Given the description of an element on the screen output the (x, y) to click on. 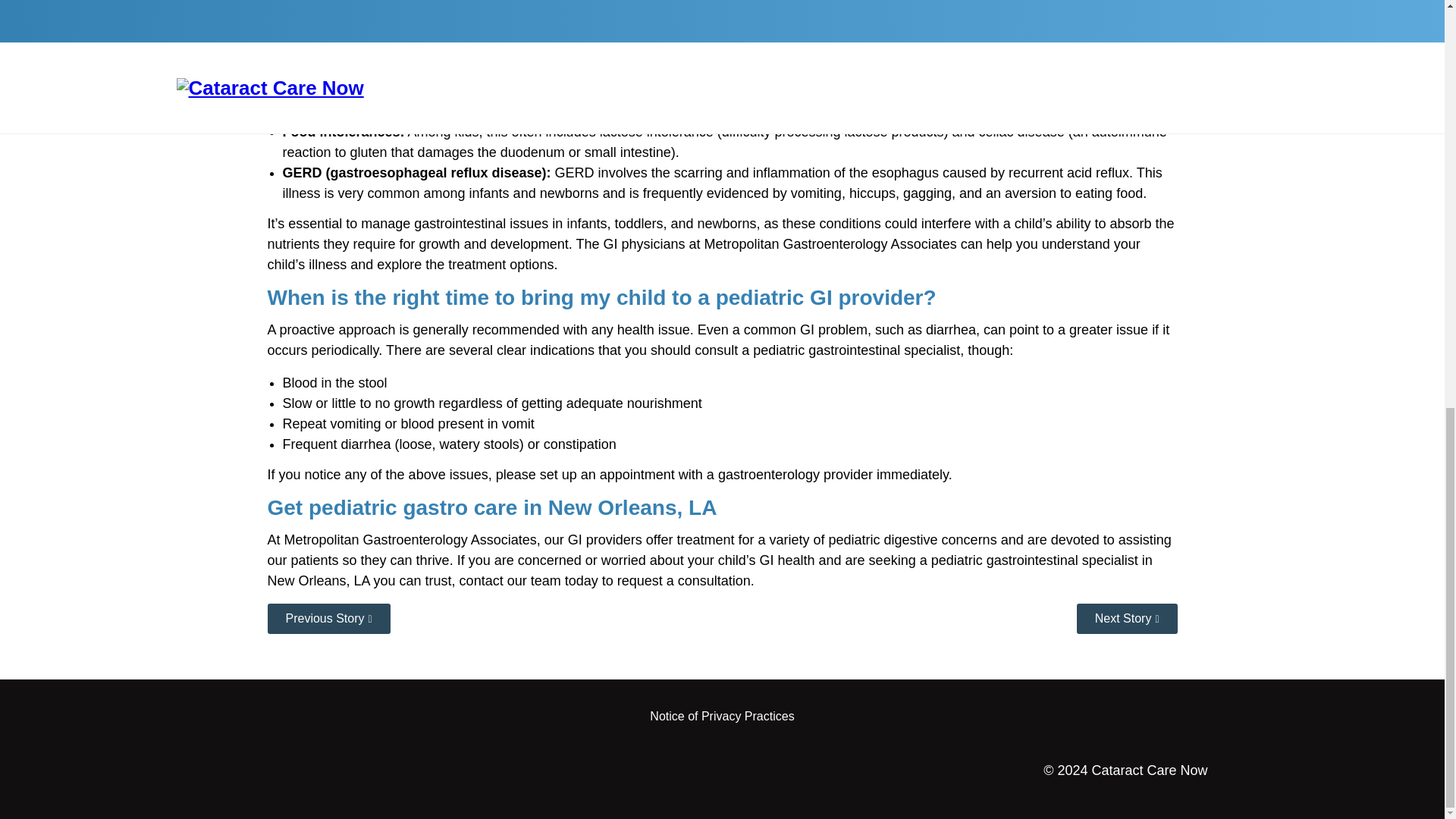
Notice of Privacy Practices (721, 716)
Previous Story (328, 618)
Next Story (1127, 618)
